Given the description of an element on the screen output the (x, y) to click on. 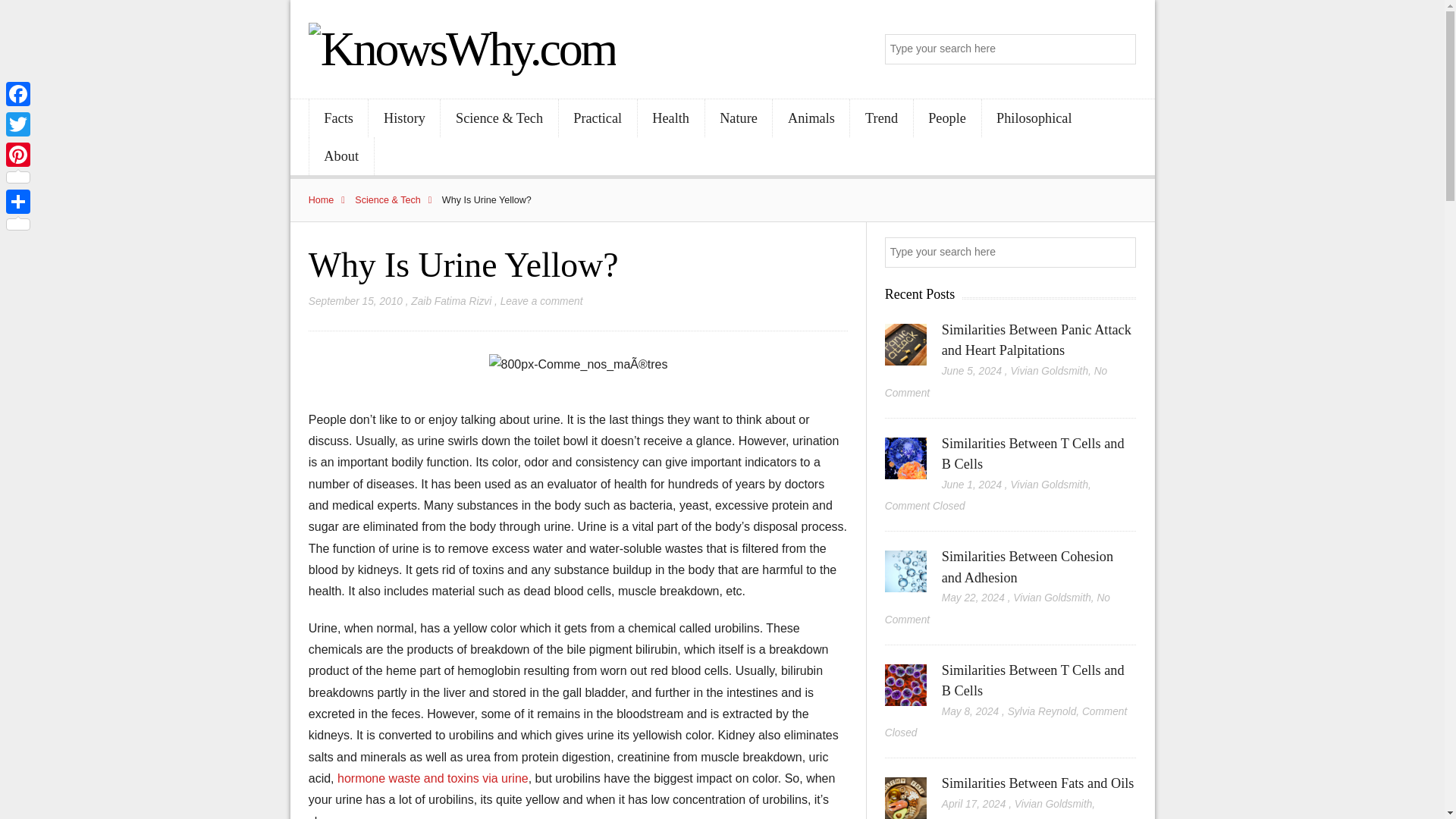
Nature (738, 118)
Philosophical (1033, 118)
hormone waste and toxins via urine (432, 778)
Health (670, 118)
People (947, 118)
Trend (881, 118)
About (341, 156)
Home (330, 199)
Animals (810, 118)
Leave a comment (541, 301)
History (403, 118)
Practical (598, 118)
Posts by Zaib Fatima Rizvi (451, 301)
Zaib Fatima Rizvi (451, 301)
Facts (338, 118)
